Given the description of an element on the screen output the (x, y) to click on. 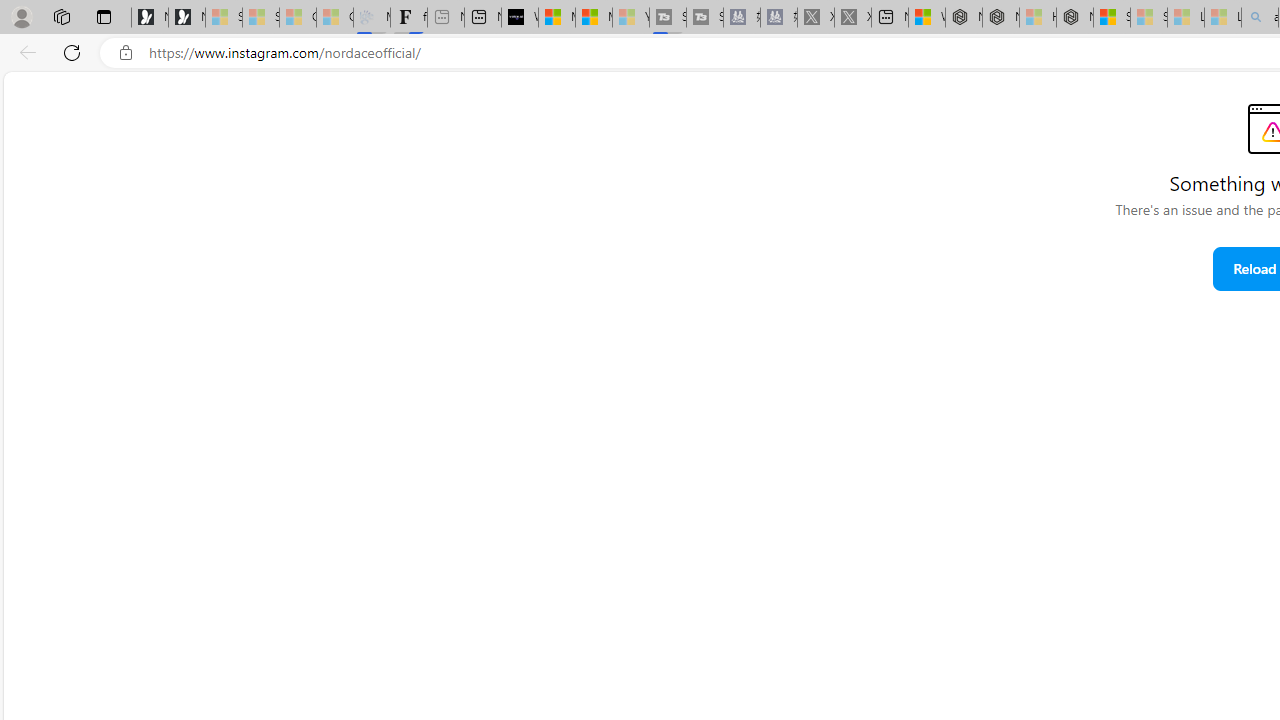
Nordace - Nordace Siena Is Not An Ordinary Backpack (1075, 17)
